Given the description of an element on the screen output the (x, y) to click on. 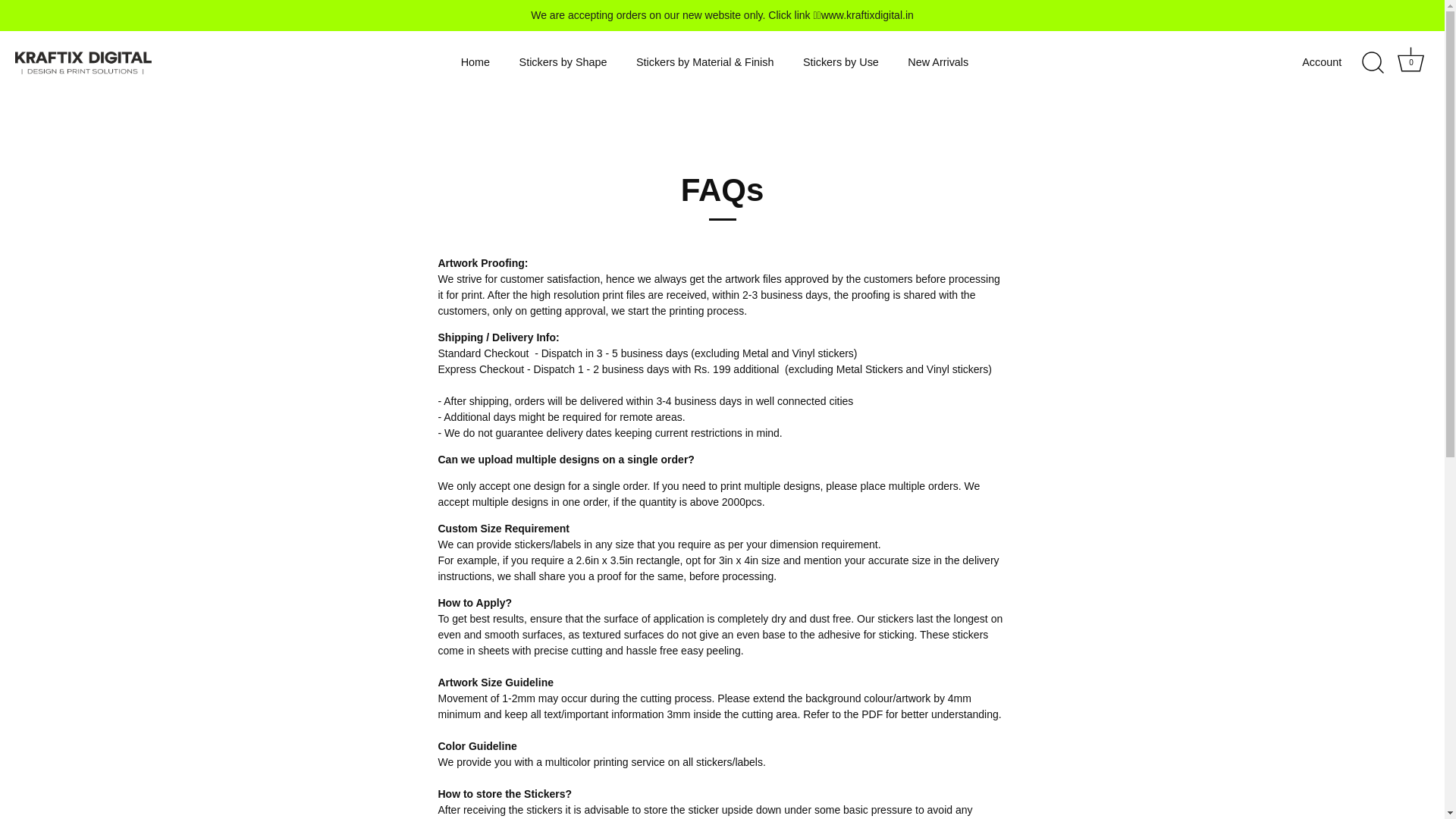
Home (474, 62)
Cart (1410, 58)
Stickers by Use (841, 62)
Stickers by Shape (562, 62)
